Given the description of an element on the screen output the (x, y) to click on. 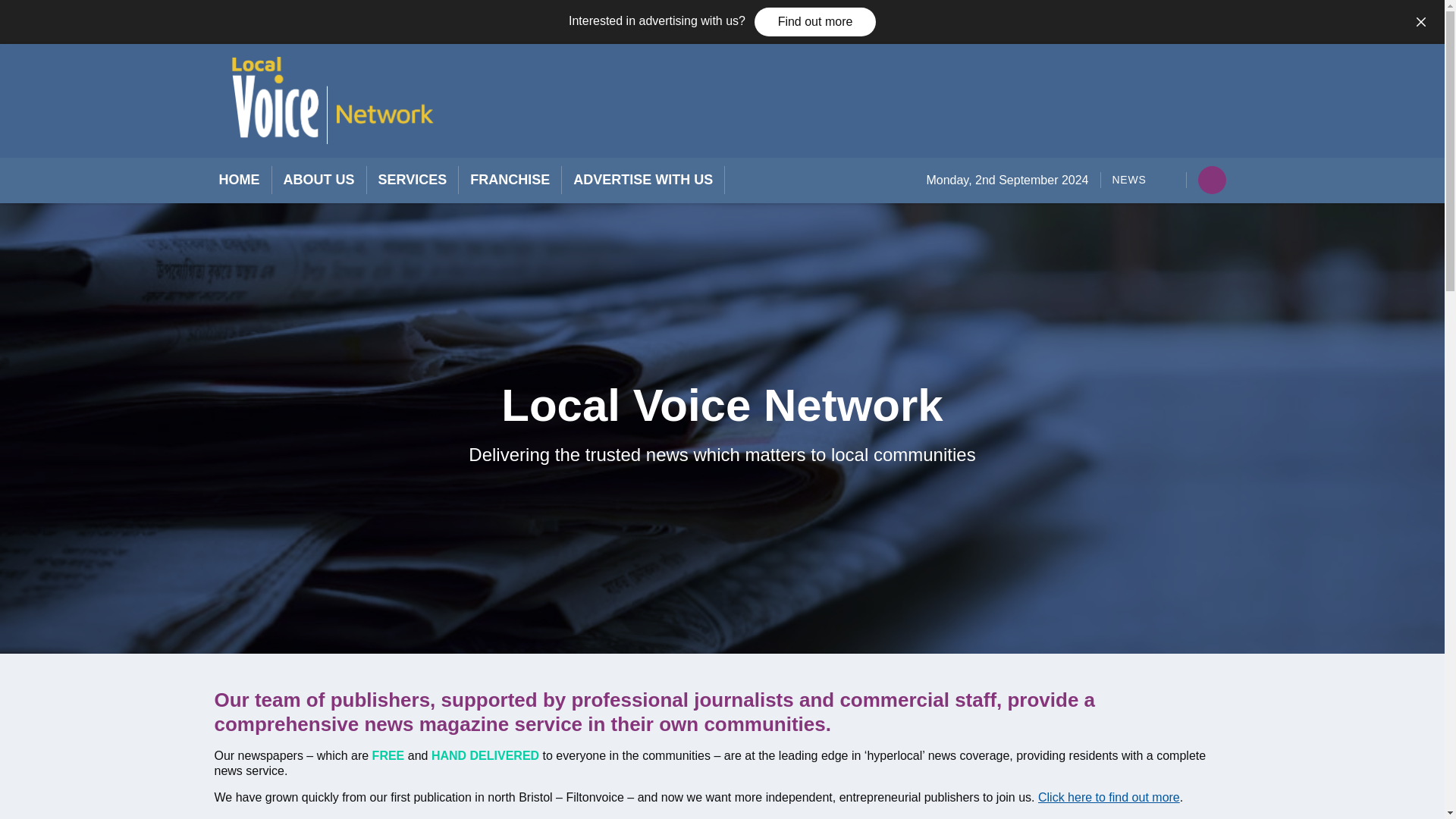
Find out more (815, 21)
Click here to find out more (1108, 797)
ABOUT US (319, 179)
ADVERTISE WITH US (643, 179)
Search (1027, 240)
NEWS (1128, 179)
FRANCHISE (510, 179)
HOME (238, 179)
SERVICES (411, 179)
